Given the description of an element on the screen output the (x, y) to click on. 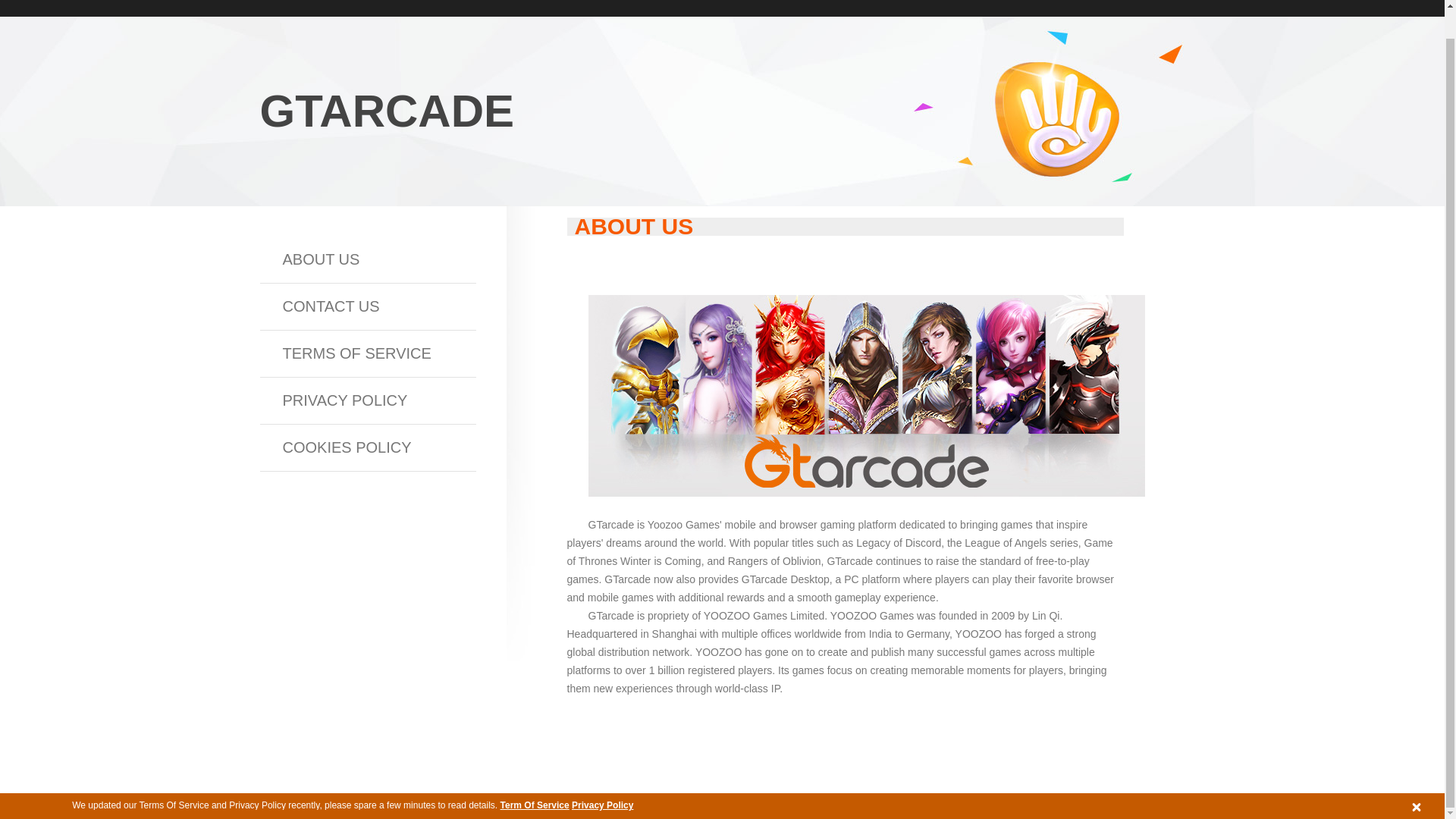
Privacy Policy (602, 776)
TERMS OF SERVICE (367, 353)
PRIVACY POLICY (367, 400)
Term Of Service (534, 776)
COOKIES POLICY (367, 447)
ABOUT US (367, 259)
CONTACT US (367, 306)
